Given the description of an element on the screen output the (x, y) to click on. 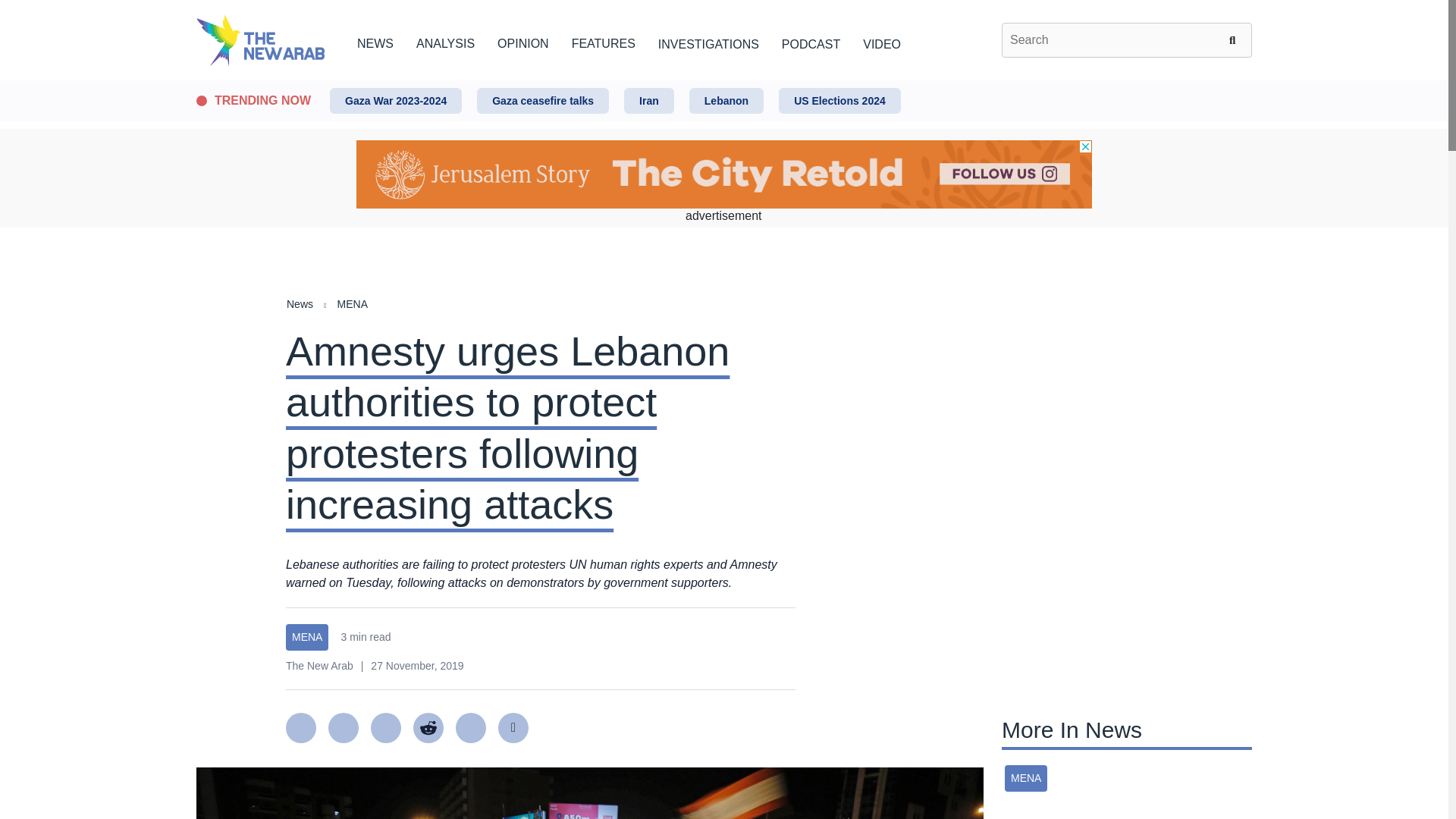
ANALYSIS (445, 41)
Skip to main content (724, 81)
OPINION (523, 41)
Search (1234, 39)
NEWS (375, 41)
